Given the description of an element on the screen output the (x, y) to click on. 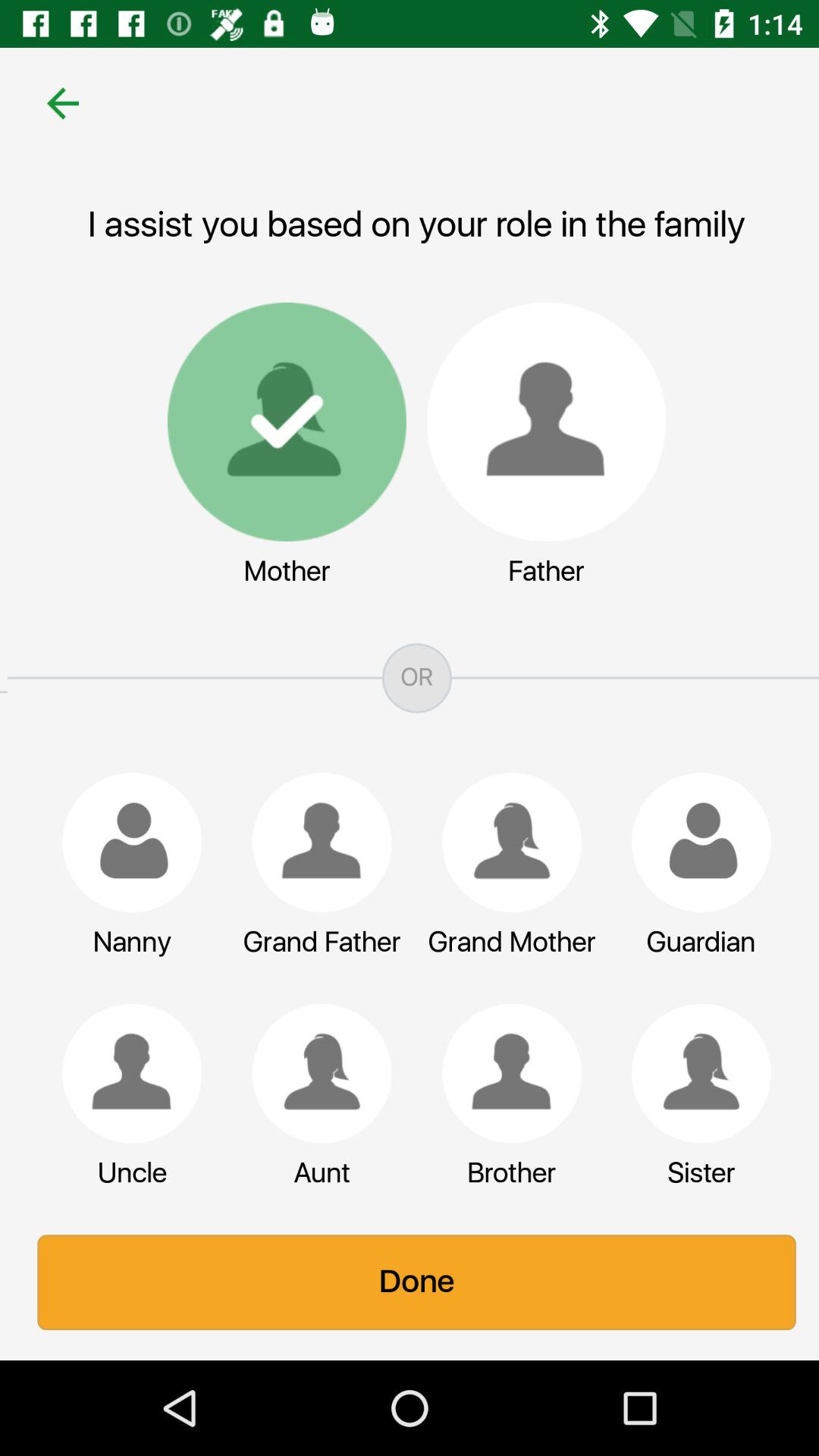
change family role (314, 1073)
